Given the description of an element on the screen output the (x, y) to click on. 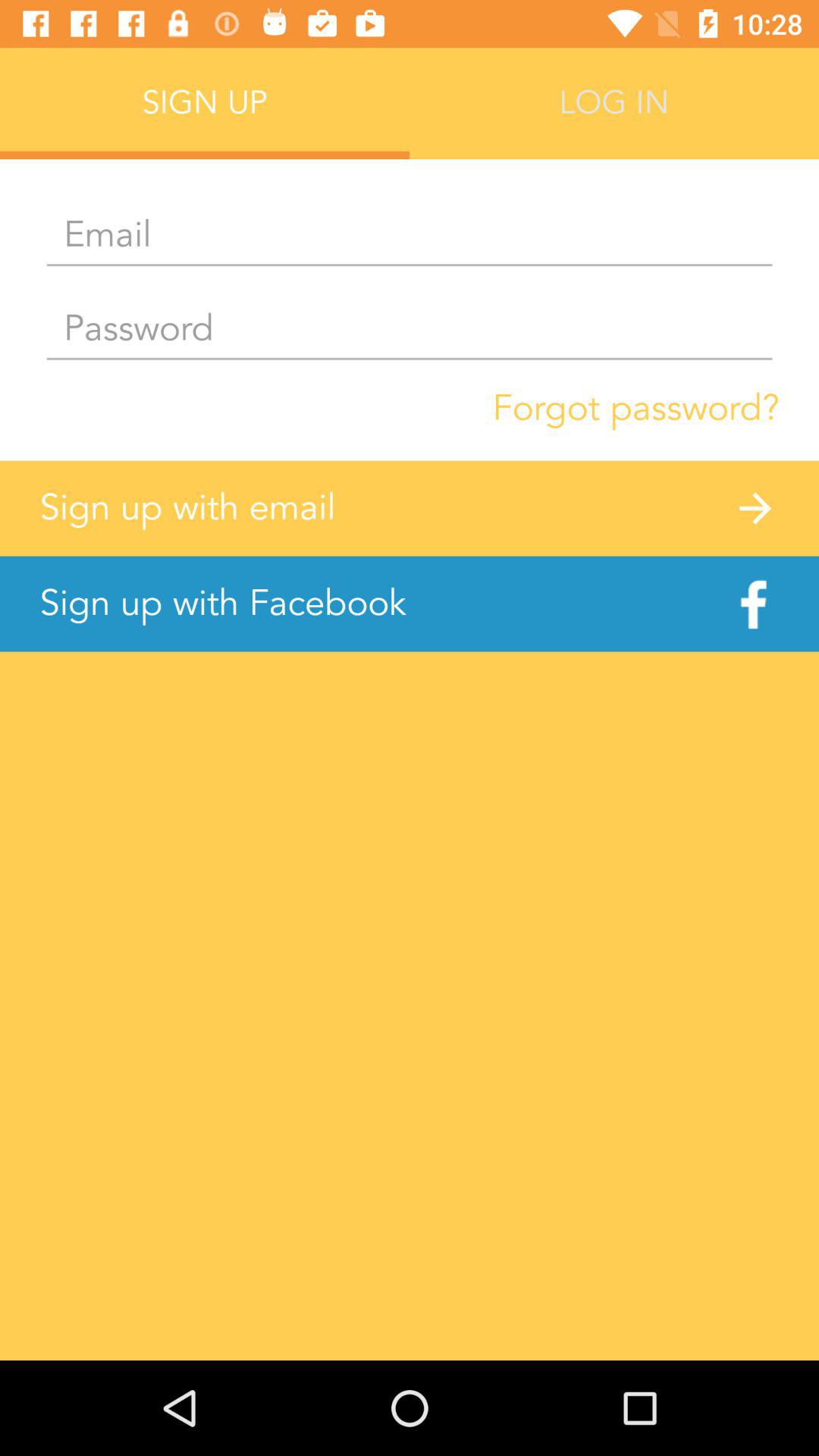
open item above the sign up with item (635, 408)
